Given the description of an element on the screen output the (x, y) to click on. 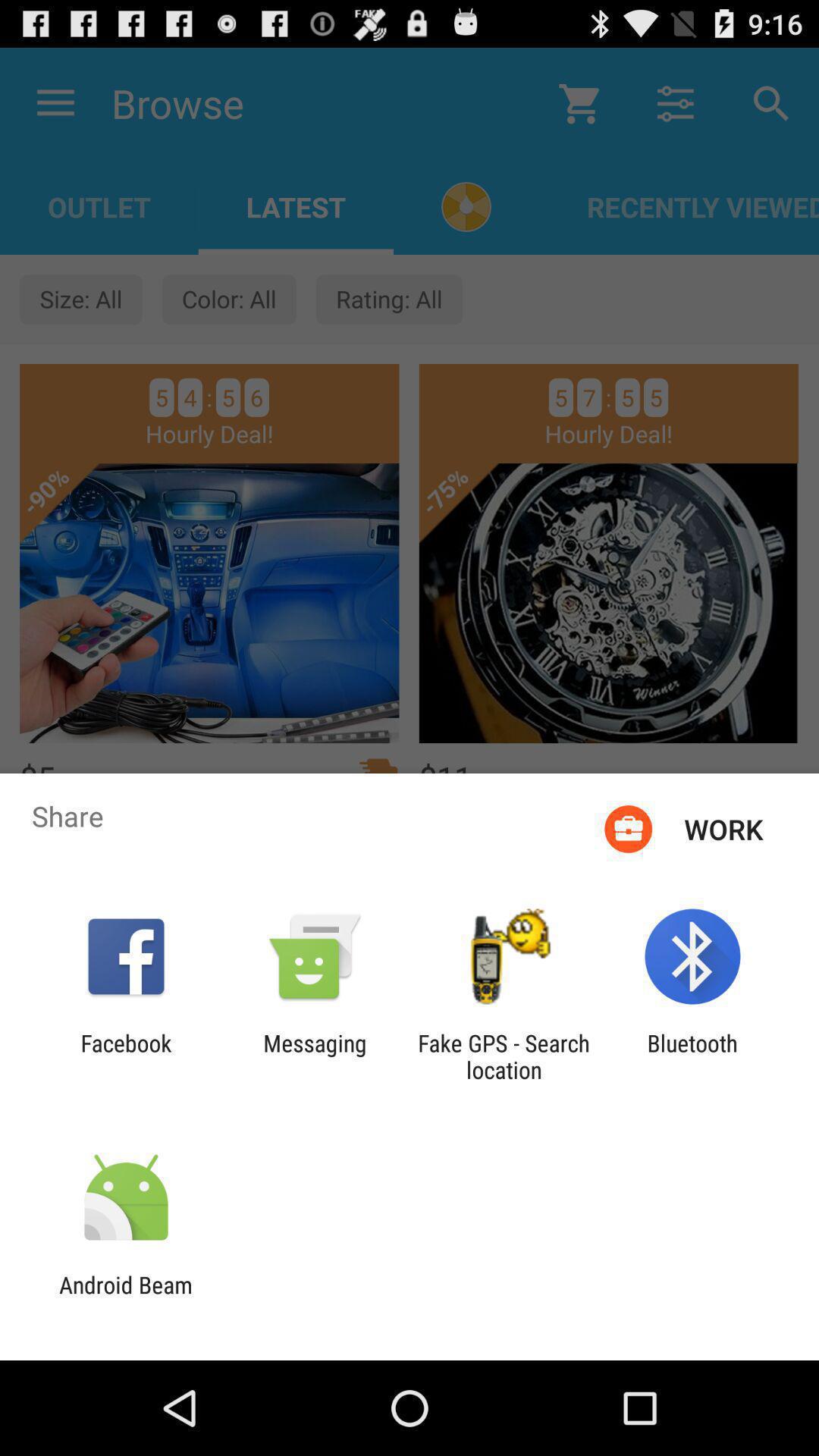
swipe to the facebook app (125, 1056)
